Given the description of an element on the screen output the (x, y) to click on. 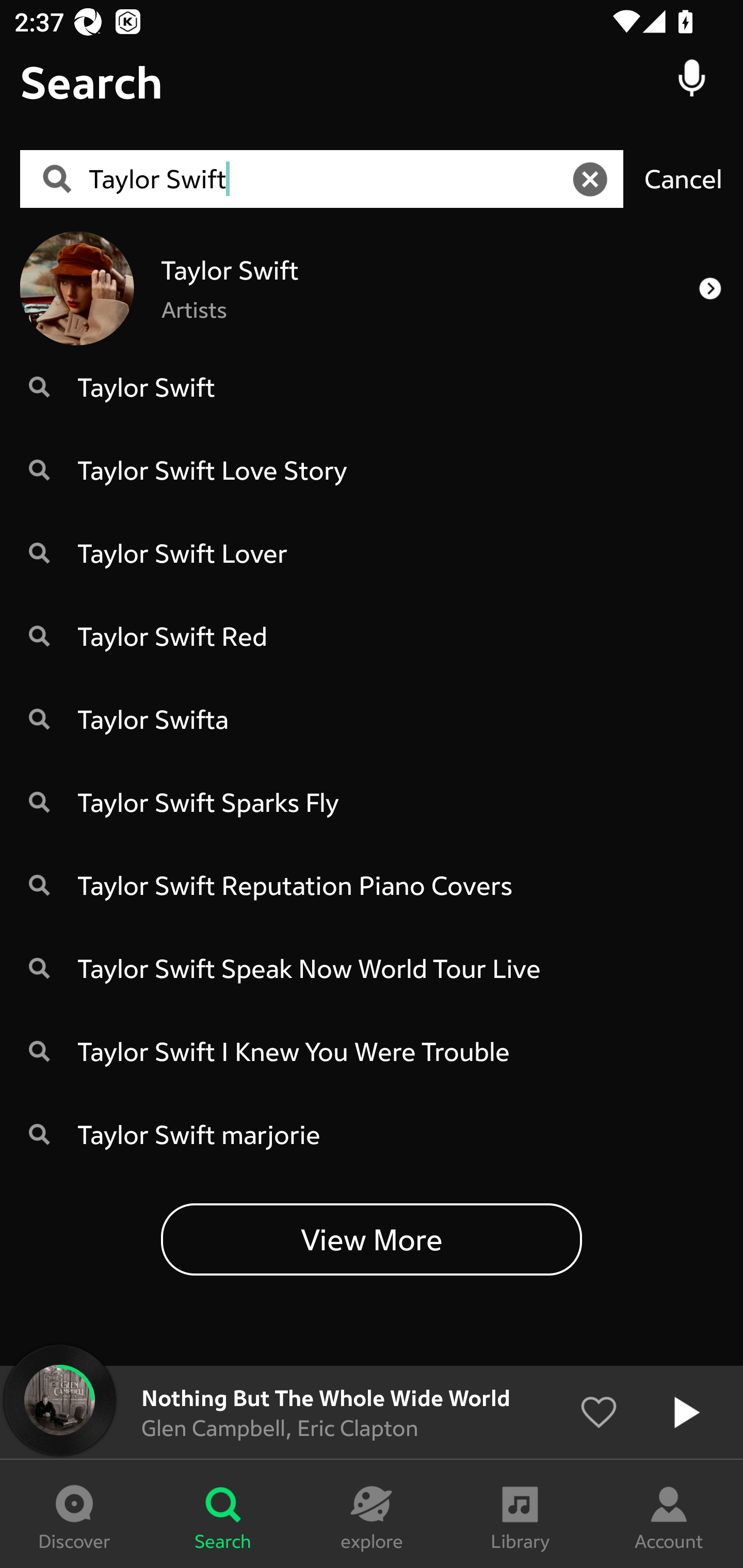
Cancel (683, 178)
Taylor Swift (327, 179)
Taylor Swift Artists (371, 288)
Taylor Swift (371, 386)
Taylor Swift Love Story (371, 469)
Taylor Swift Lover (371, 552)
Taylor Swift Red (371, 635)
Taylor Swifta (371, 718)
Taylor Swift Sparks Fly (371, 801)
Taylor Swift Reputation Piano Covers (371, 884)
Taylor Swift Speak Now World Tour Live (371, 967)
Taylor Swift I Knew You Were Trouble (371, 1050)
Taylor Swift marjorie (371, 1134)
View More (371, 1238)
Discover (74, 1513)
explore (371, 1513)
Library (519, 1513)
Account (668, 1513)
